Given the description of an element on the screen output the (x, y) to click on. 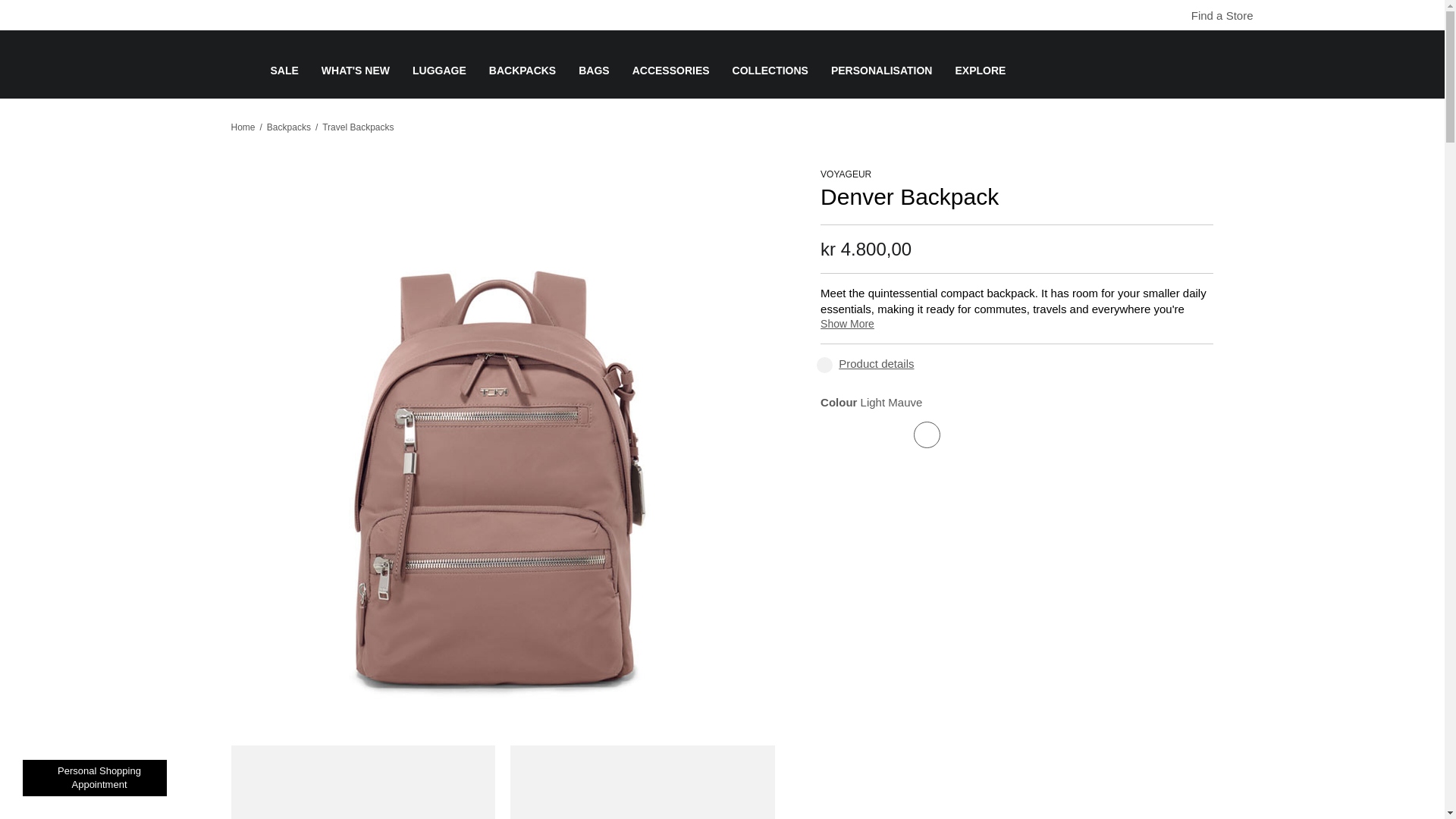
WHAT'S NEW (355, 81)
LUGGAGE (438, 81)
Find a Store (1213, 15)
BACKPACKS (522, 81)
Find a Store (1181, 15)
